Given the description of an element on the screen output the (x, y) to click on. 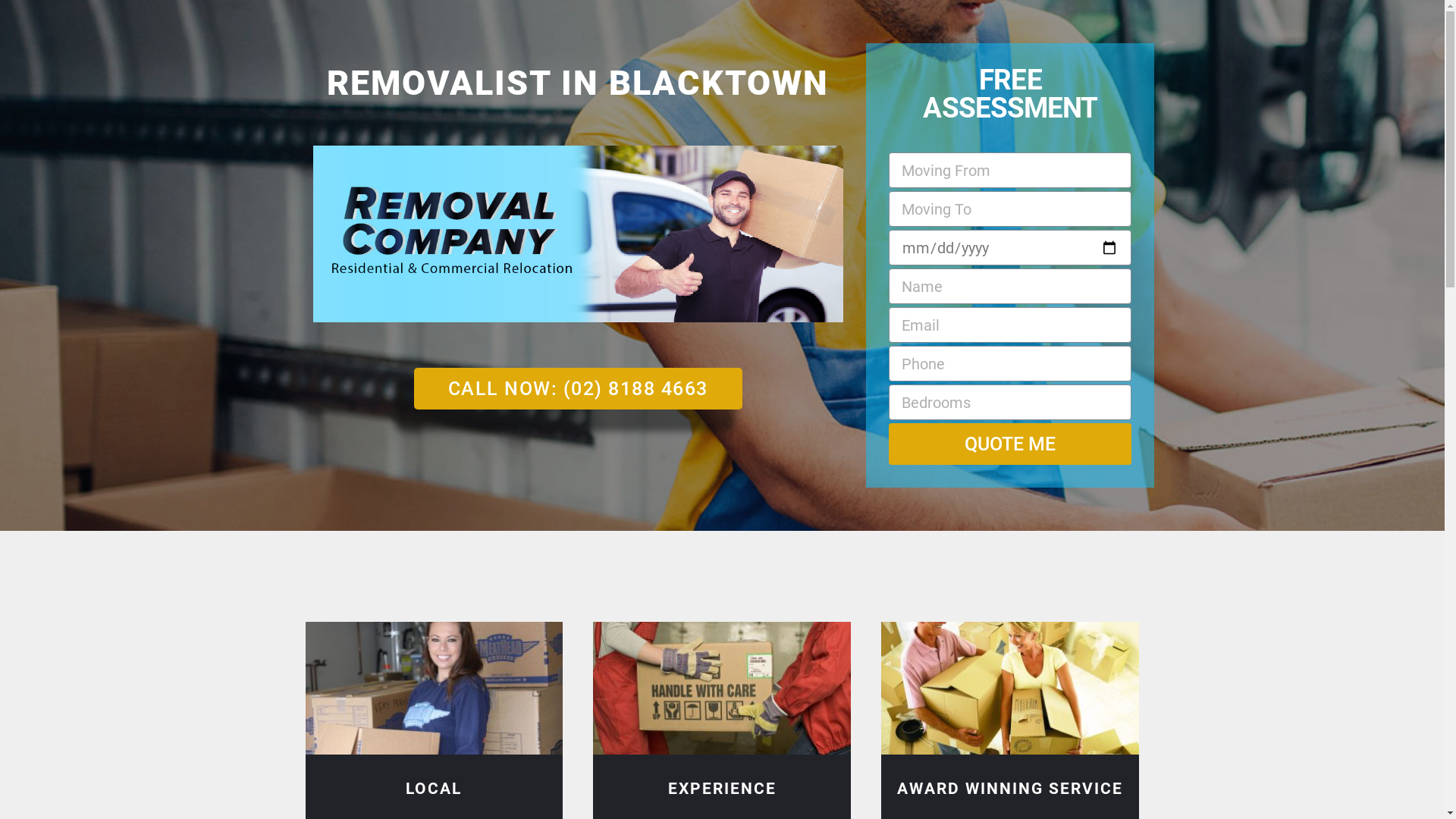
Award Winning Removal Services in Blacktown Element type: hover (1010, 687)
QUOTE ME Element type: text (1009, 443)
Local Blacktown Removalists Element type: hover (433, 687)
CALL NOW: (02) 8188 4663 Element type: text (578, 388)
Experienced Blacktown Removalists Element type: hover (721, 687)
